Given the description of an element on the screen output the (x, y) to click on. 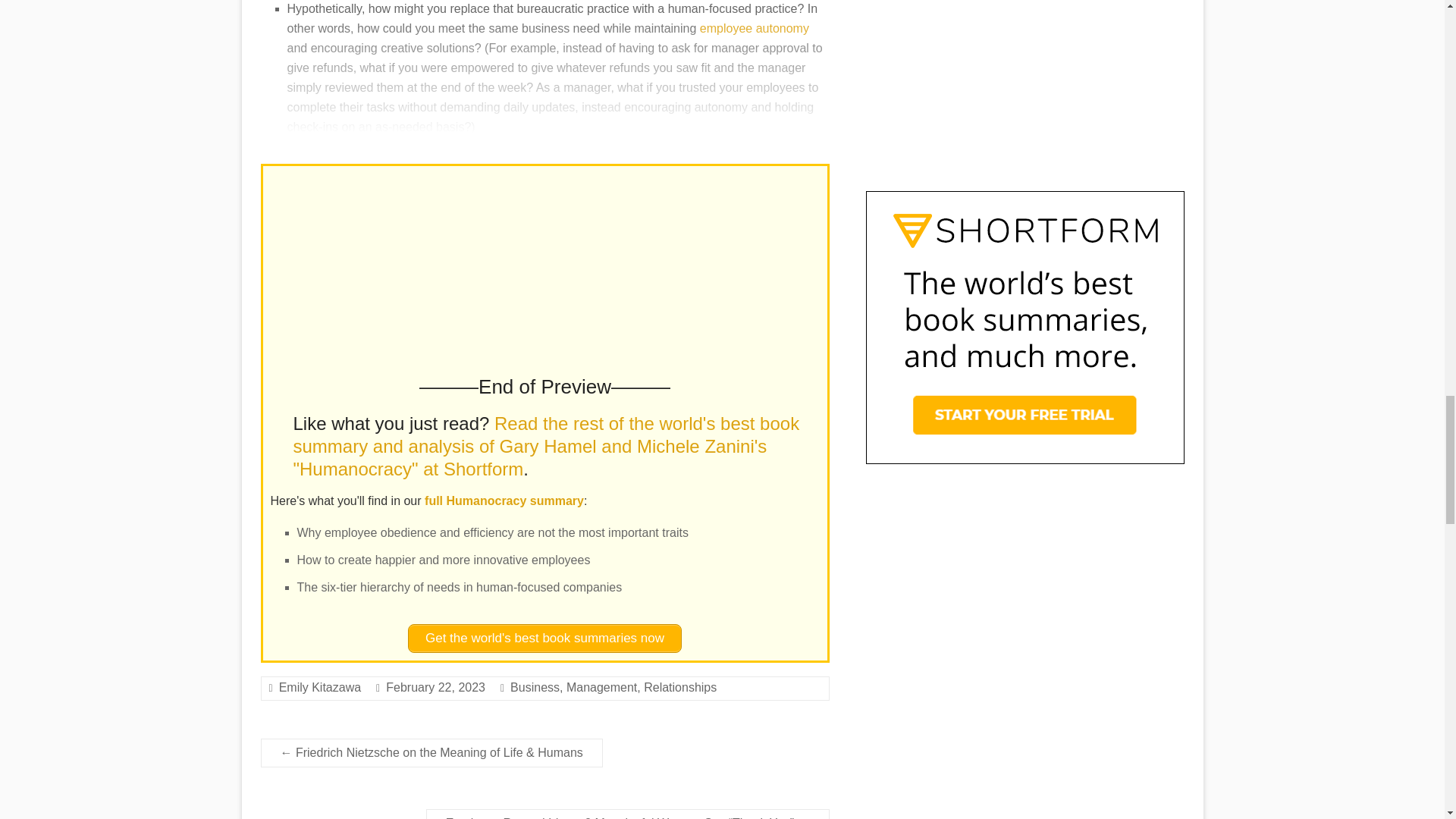
Business (535, 686)
full Humanocracy summary (504, 500)
employee autonomy (754, 28)
11:20 am (434, 686)
Emily Kitazawa (320, 686)
Management (601, 686)
February 22, 2023 (434, 686)
Get the world's best book summaries now (544, 638)
Relationships (679, 686)
